Given the description of an element on the screen output the (x, y) to click on. 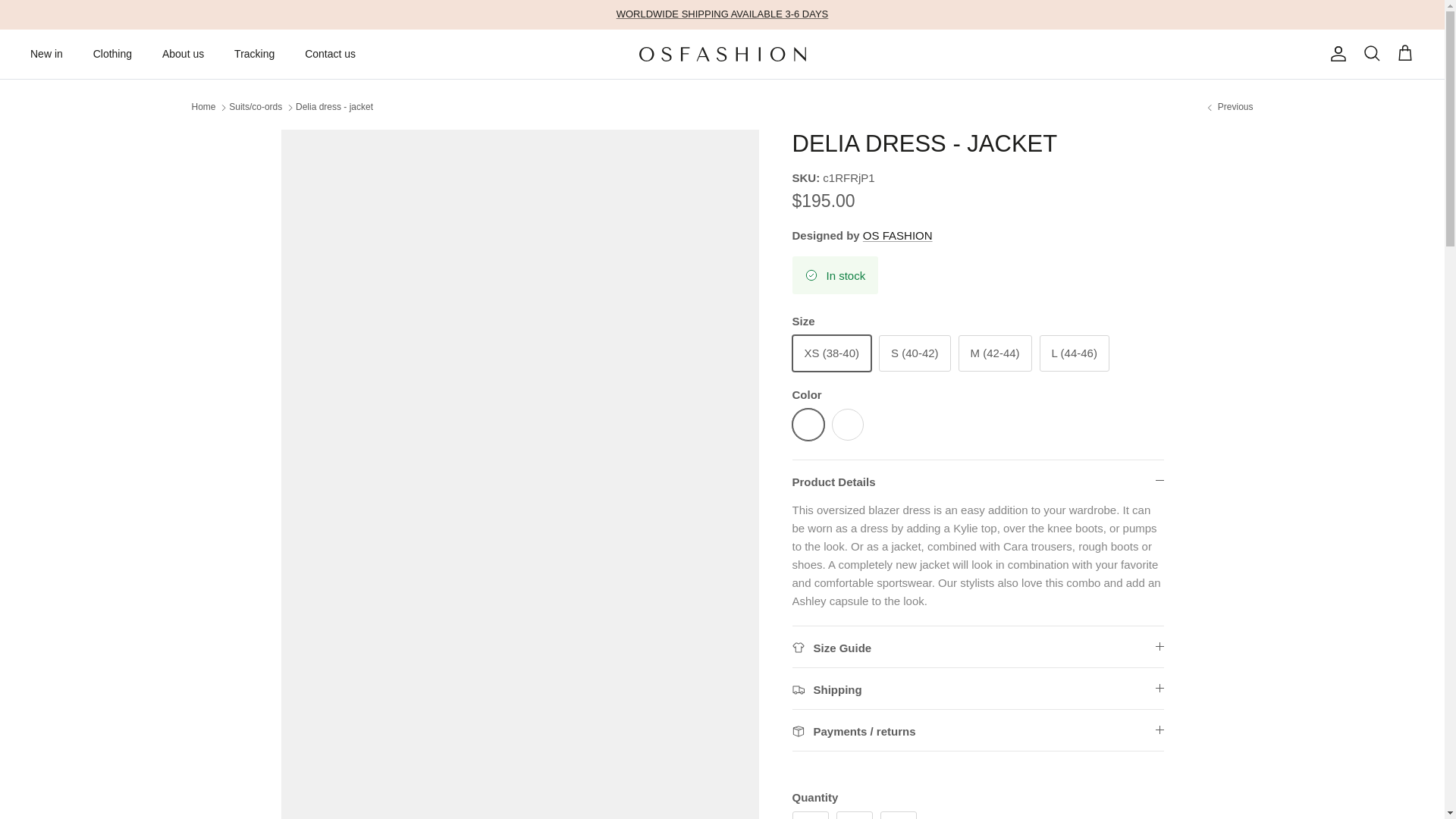
Tracking (254, 53)
Account (1335, 54)
Shipping info (721, 13)
Cart (1404, 53)
About us (182, 53)
Home (202, 107)
New in (46, 53)
1 (853, 815)
OS FASHION (722, 53)
Clothing (112, 53)
Delia dress - jacket (333, 107)
WORLDWIDE SHIPPING AVAILABLE 3-6 DAYS (721, 13)
Previous (1228, 106)
Cara jacket in tuxedo style (1228, 106)
Contact us (330, 53)
